Given the description of an element on the screen output the (x, y) to click on. 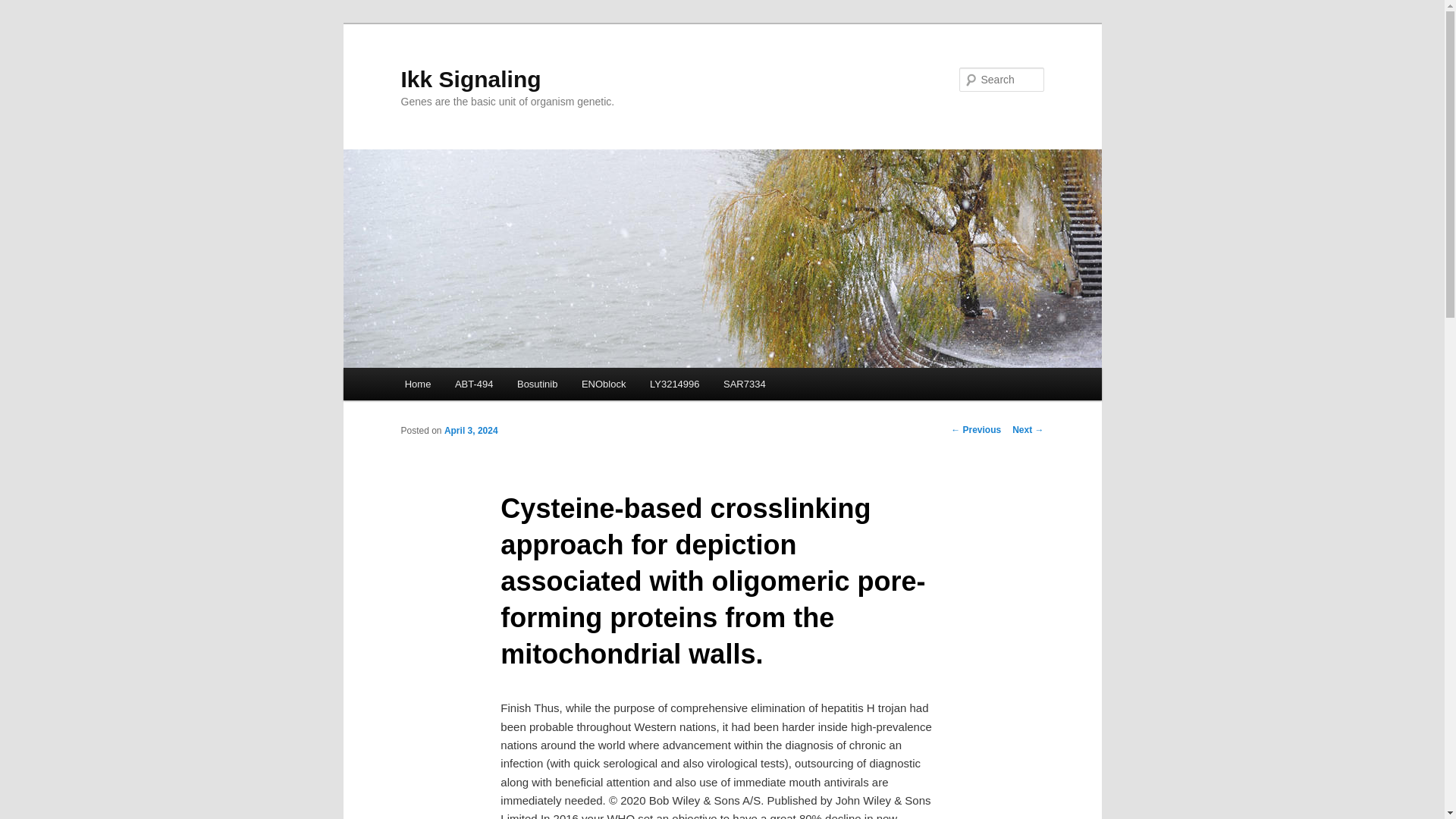
SAR7334 (744, 383)
April 3, 2024 (470, 430)
Bosutinib (537, 383)
Ikk Signaling (470, 78)
Home (417, 383)
Skip to primary content (472, 386)
Search (24, 8)
Home (417, 383)
Ikk Signaling (470, 78)
Skip to secondary content (479, 386)
ENOblock (603, 383)
Skip to secondary content (479, 386)
Skip to primary content (472, 386)
LY3214996 (674, 383)
ABT-494 (473, 383)
